Given the description of an element on the screen output the (x, y) to click on. 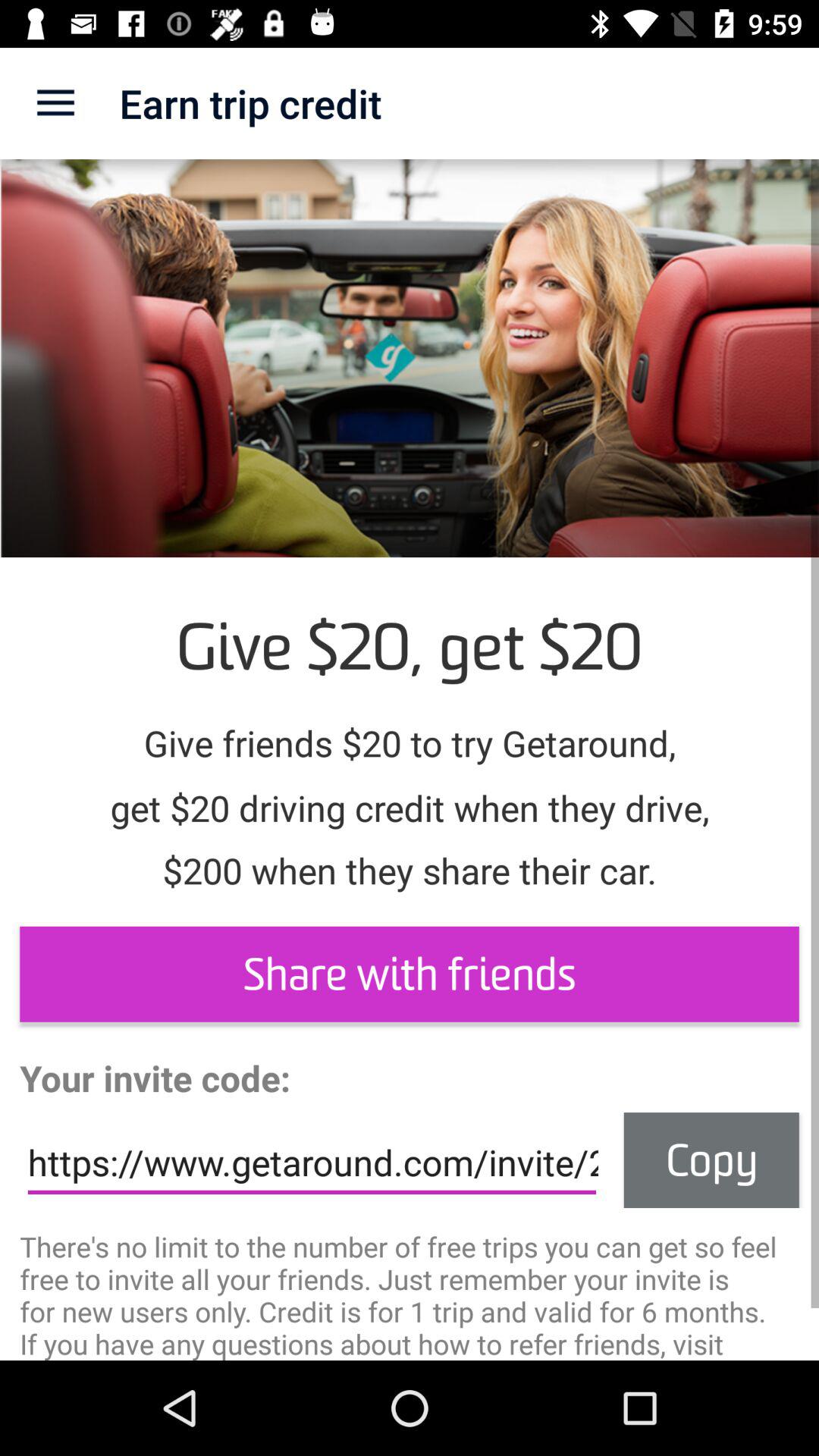
click item above the there s no icon (311, 1163)
